Given the description of an element on the screen output the (x, y) to click on. 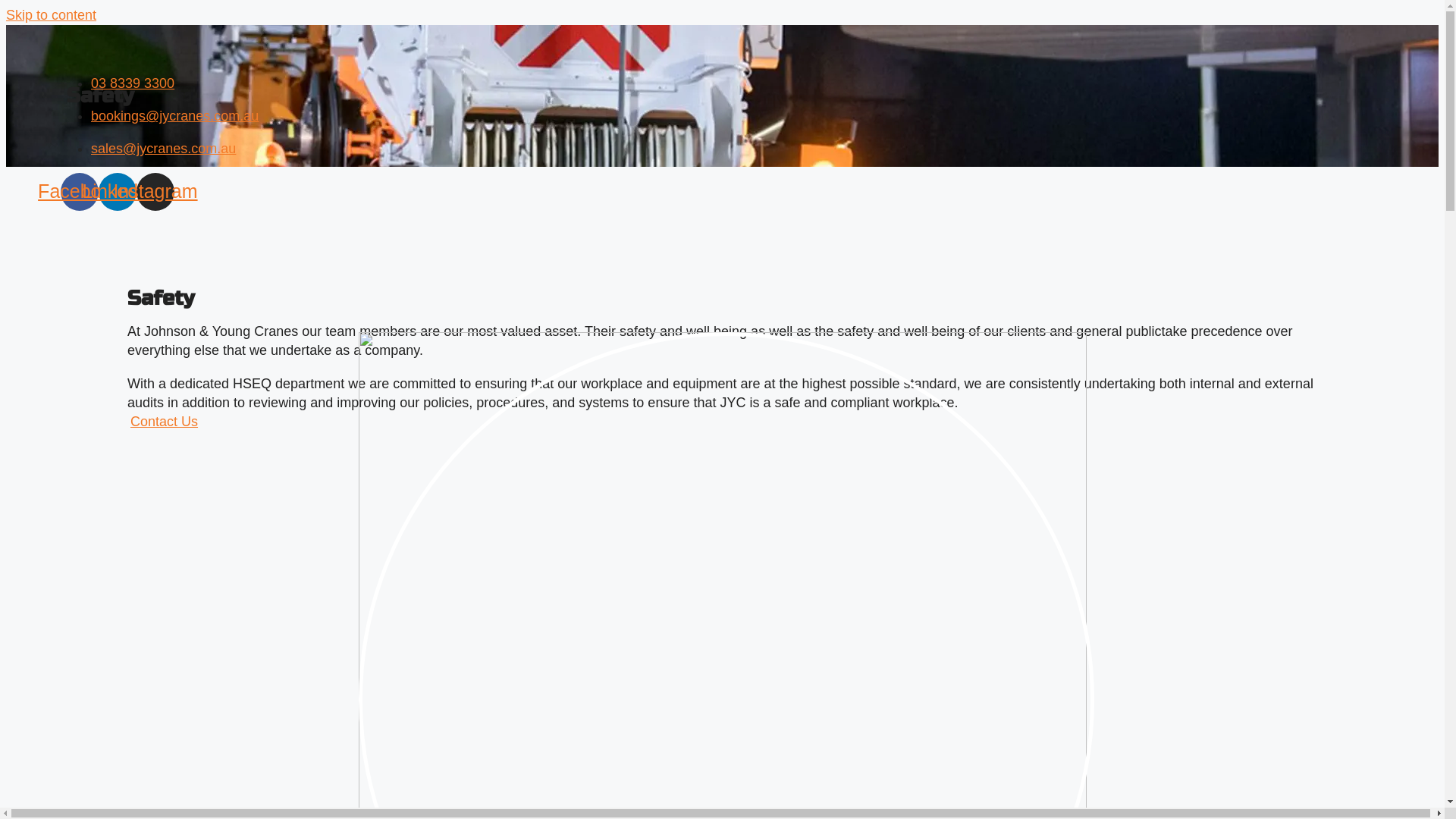
sales@jycranes.com.au Element type: text (163, 148)
Skip to content Element type: text (51, 14)
Linkedin Element type: text (117, 191)
Instagram Element type: text (155, 191)
Facebook Element type: text (79, 191)
03 8339 3300 Element type: text (132, 83)
bookings@jycranes.com.au Element type: text (174, 115)
Contact Us Element type: text (163, 421)
